Given the description of an element on the screen output the (x, y) to click on. 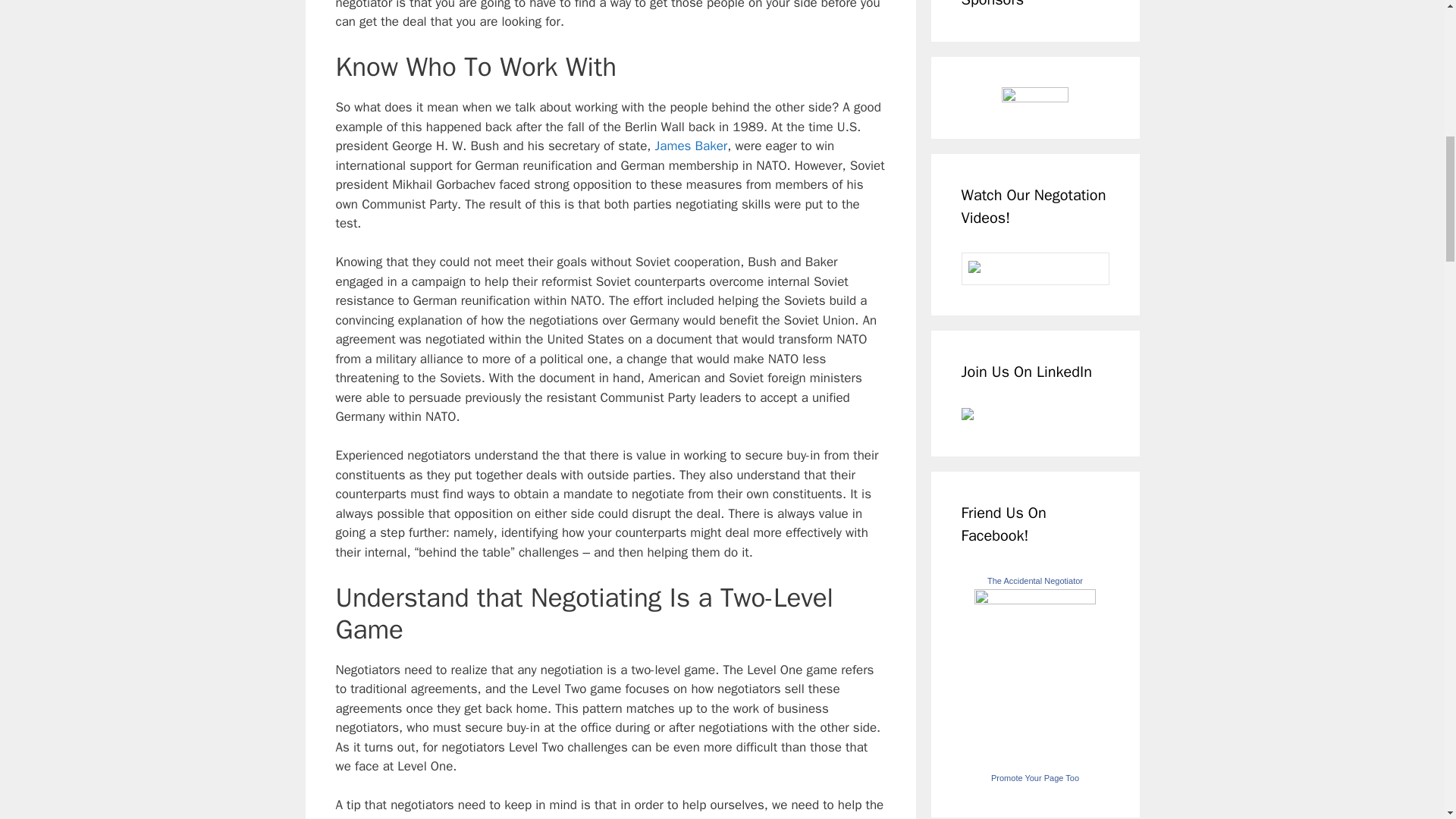
James Baker (691, 145)
Who is James Baker? (691, 145)
Make your own badge! (1034, 777)
The Accidental Negotiator (1035, 600)
The Accidental Negotiator (1035, 580)
